Given the description of an element on the screen output the (x, y) to click on. 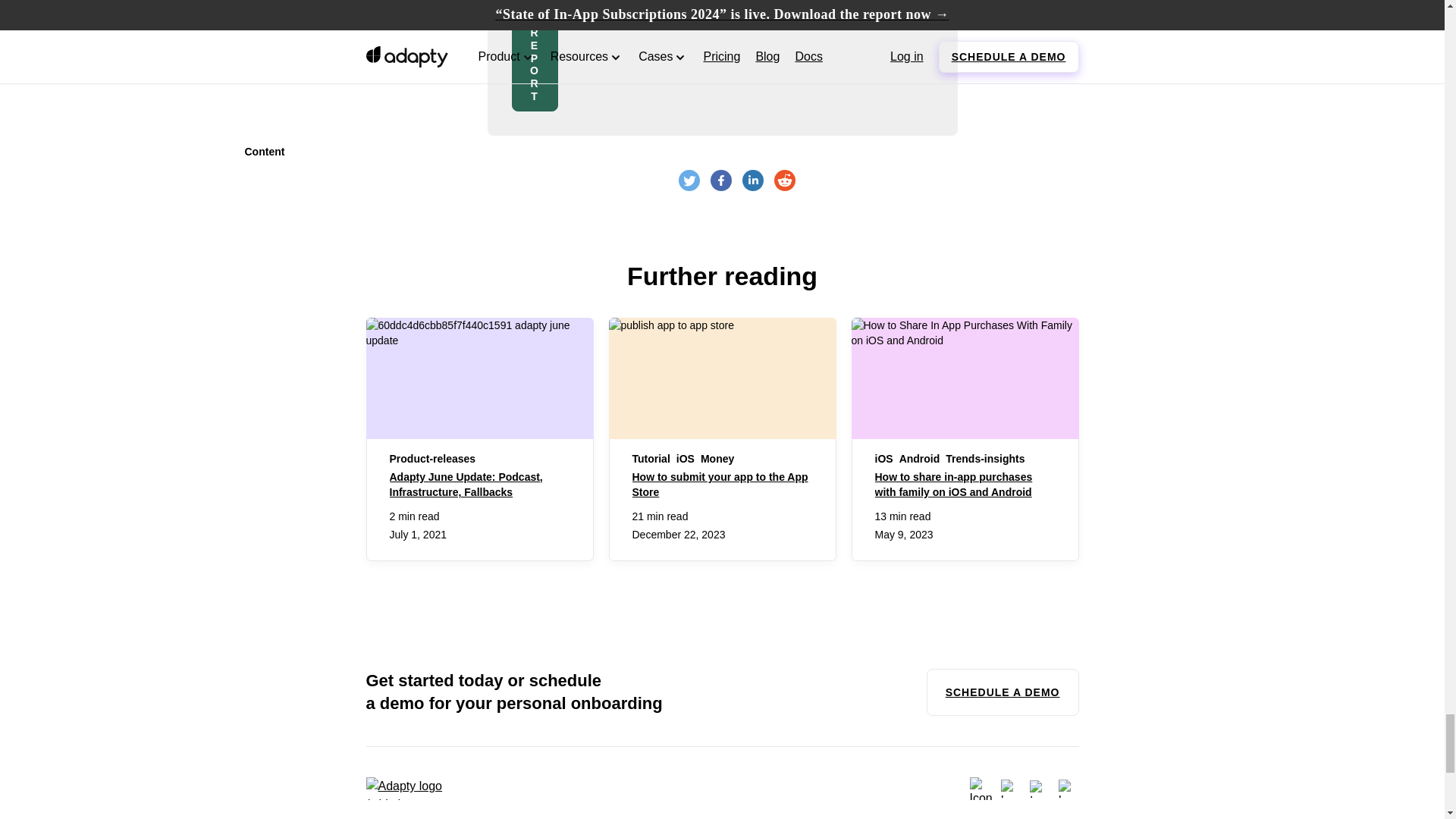
How to submit your app to the App Store 8 (721, 377)
Adapty June Update: Podcast, Infrastructure, Fallbacks 7 (478, 377)
